Given the description of an element on the screen output the (x, y) to click on. 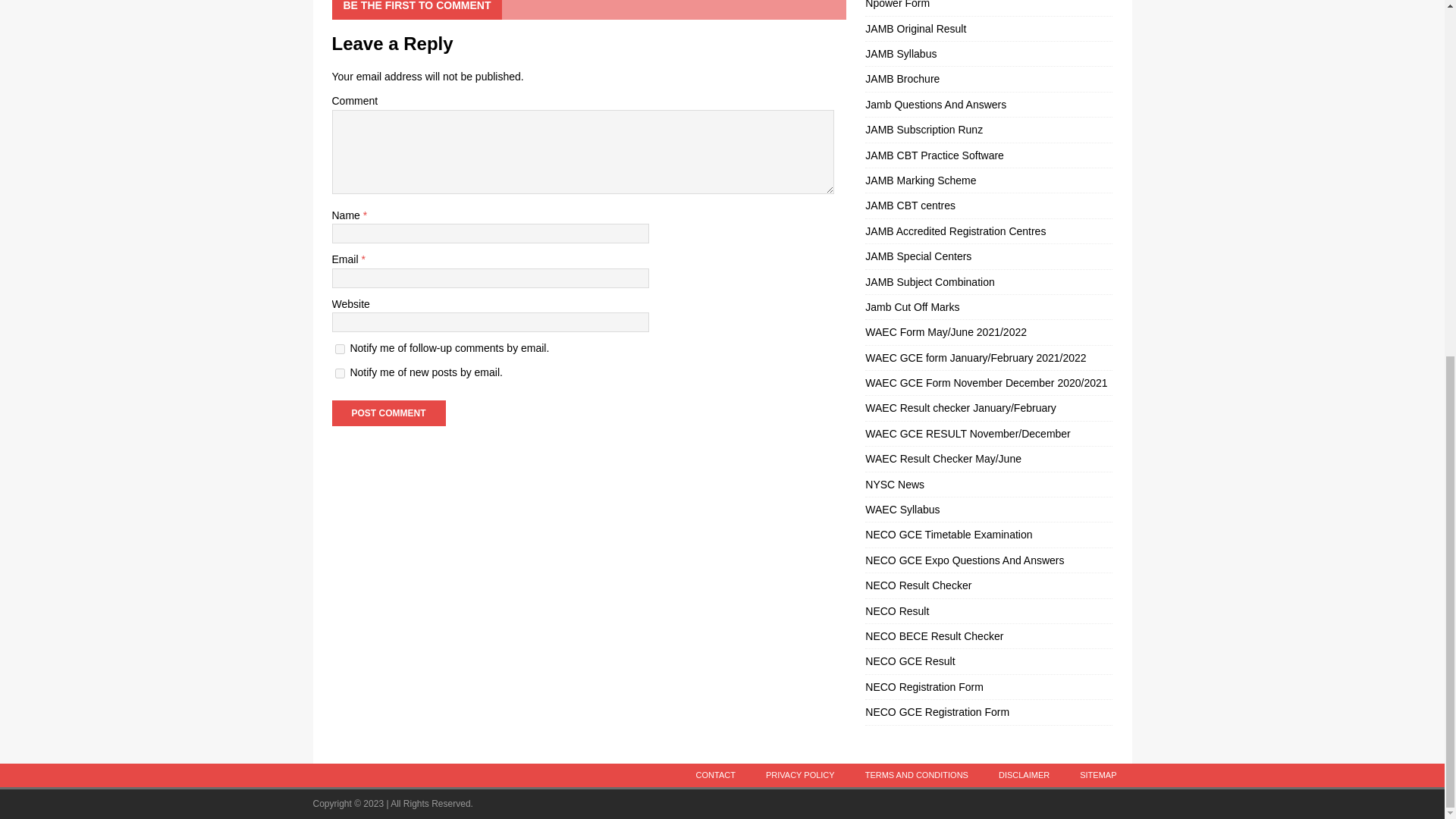
subscribe (339, 348)
subscribe (339, 373)
Post Comment (388, 412)
